Given the description of an element on the screen output the (x, y) to click on. 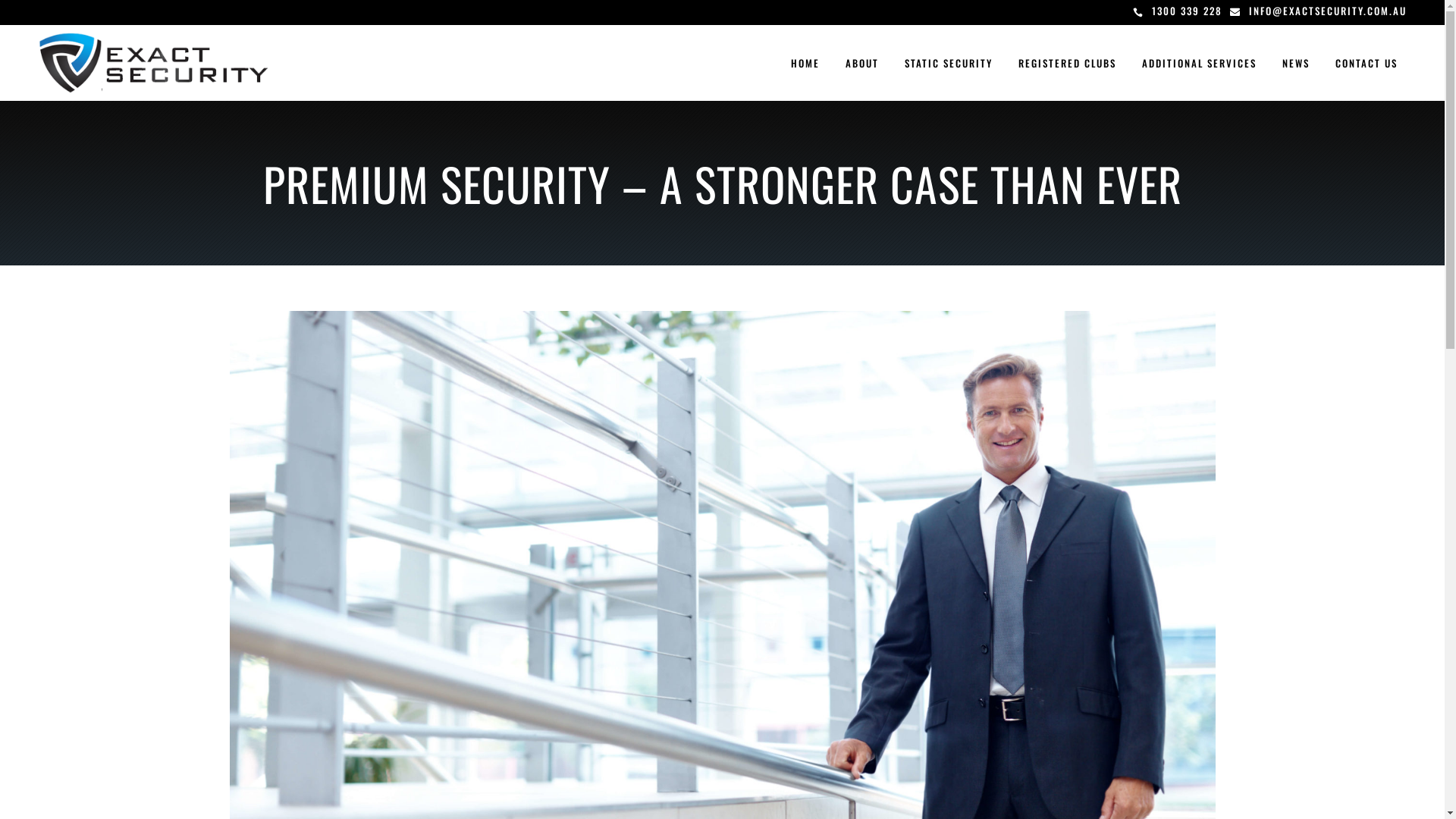
CONTACT US Element type: text (1366, 62)
1300 339 228 Element type: text (1186, 10)
REGISTERED CLUBS Element type: text (1067, 62)
NEWS Element type: text (1295, 62)
INFO@EXACTSECURITY.COM.AU Element type: text (1327, 10)
ADDITIONAL SERVICES Element type: text (1199, 62)
HOME Element type: text (805, 62)
ABOUT Element type: text (861, 62)
STATIC SECURITY Element type: text (948, 62)
